Given the description of an element on the screen output the (x, y) to click on. 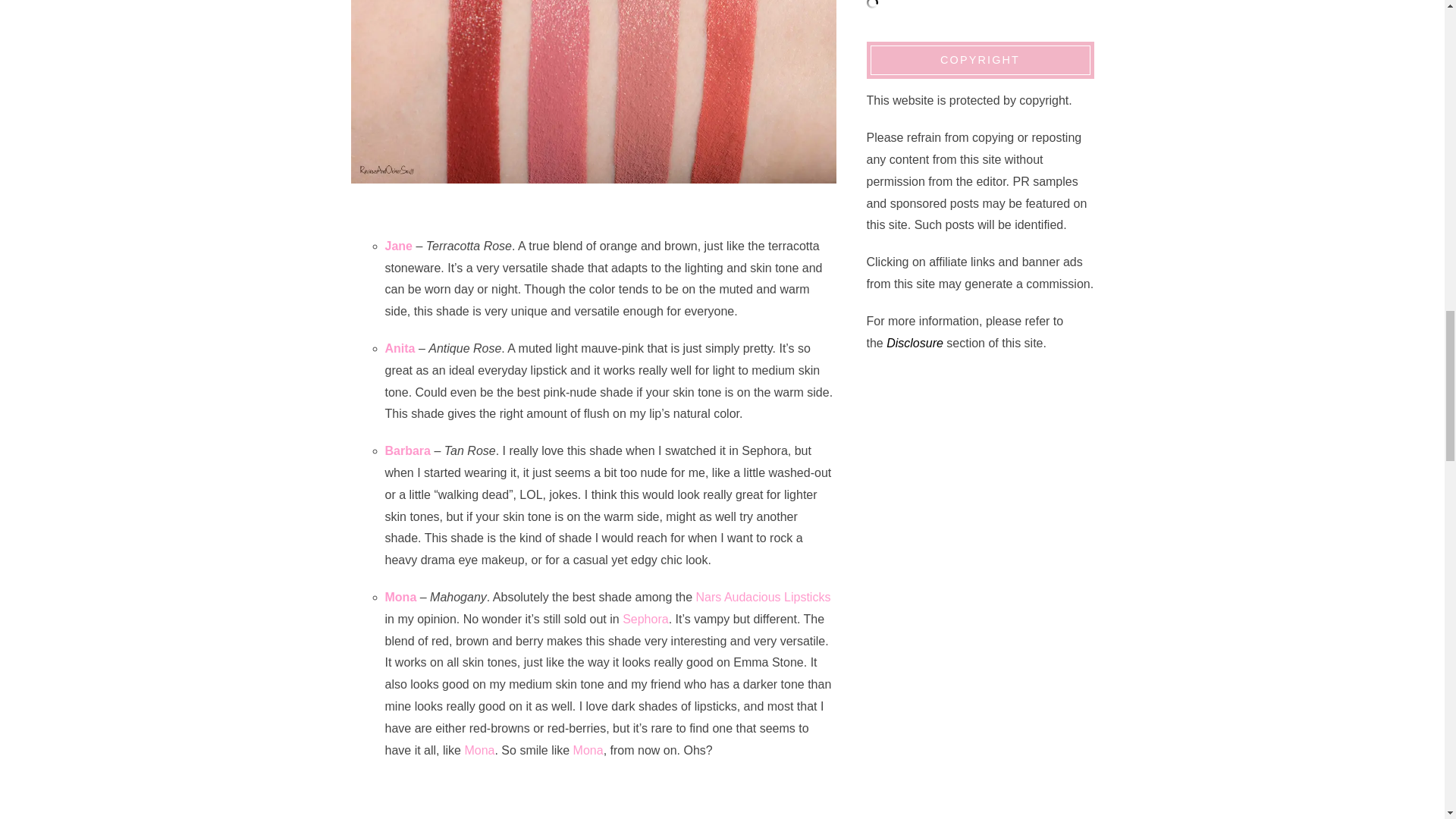
Sephora (645, 618)
Mona (400, 596)
Barbara (407, 450)
Mona (479, 749)
Jane (398, 245)
Mona (588, 749)
Anita (399, 348)
Nars Audacious Lipsticks (763, 596)
